Given the description of an element on the screen output the (x, y) to click on. 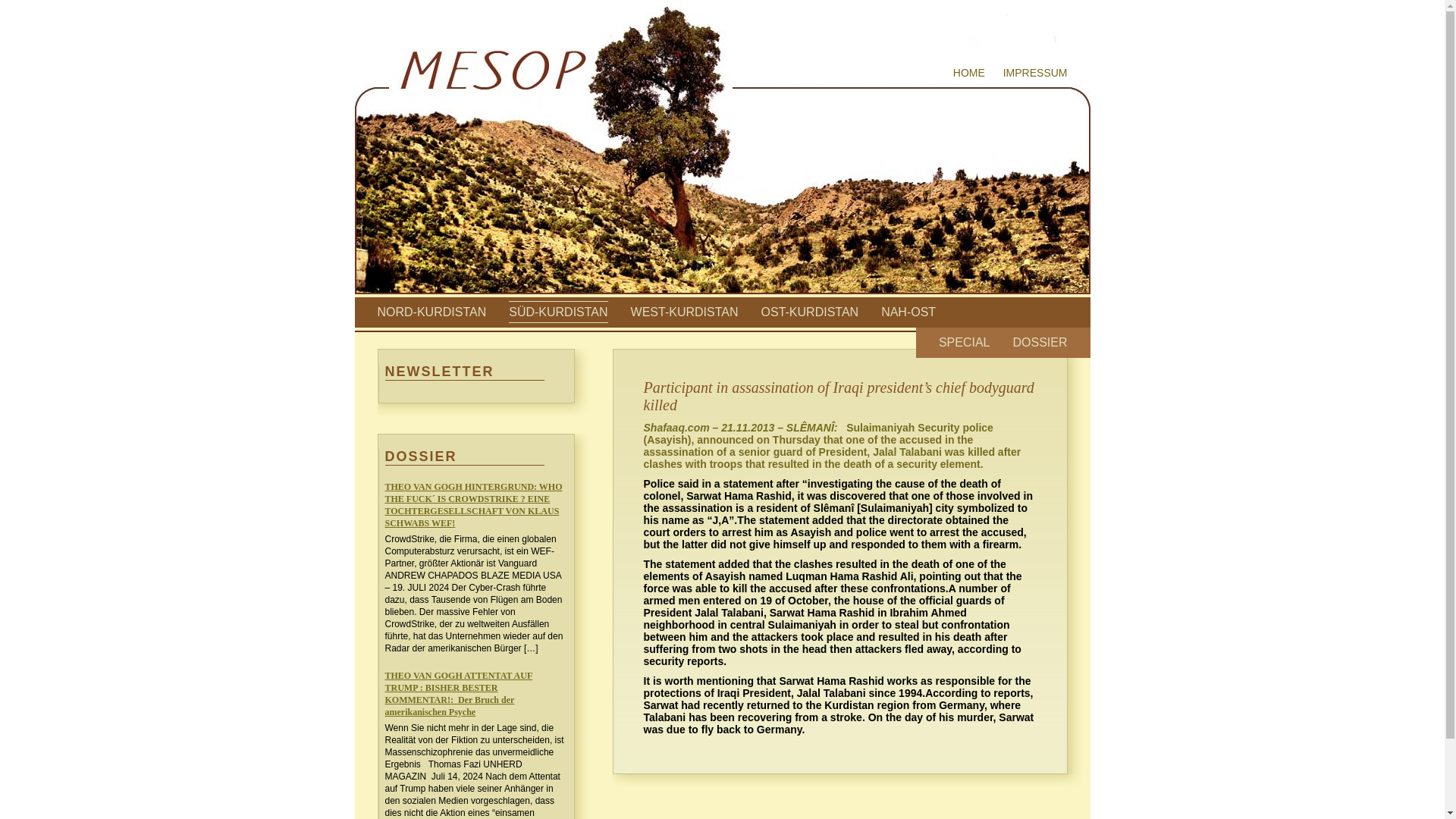
SPECIAL (964, 341)
DOSSIER (1039, 341)
OST-KURDISTAN (810, 311)
NORD-KURDISTAN (431, 311)
NAH-OST (908, 311)
WEST-KURDISTAN (684, 311)
HOME (969, 72)
IMPRESSUM (1035, 72)
